Given the description of an element on the screen output the (x, y) to click on. 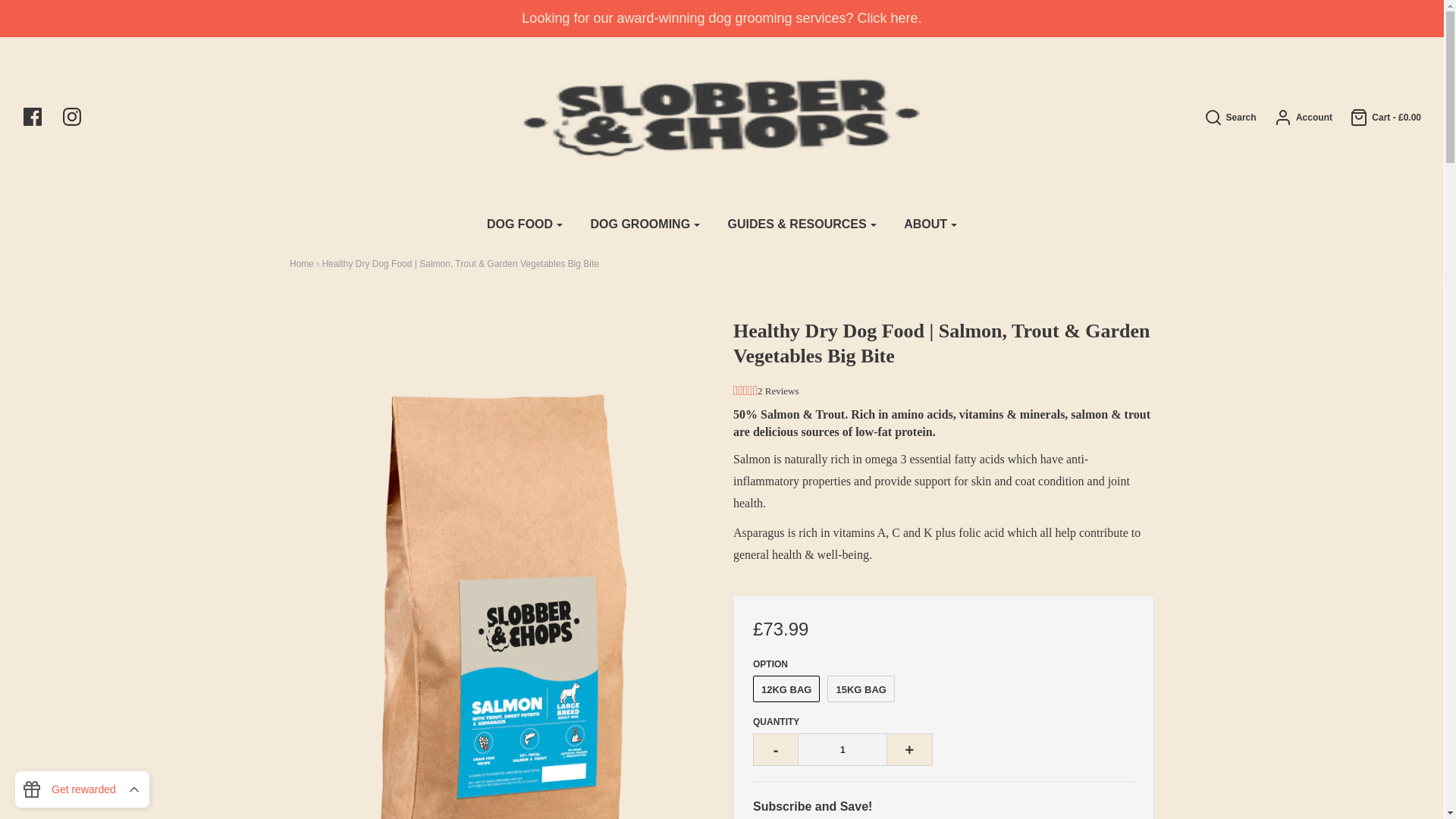
Instagram icon (71, 116)
Facebook icon (39, 117)
Back to the frontpage (301, 263)
Log in (1295, 117)
DOG FOOD (524, 224)
Account (1295, 117)
Search (1222, 117)
Cart (1378, 117)
Search (1101, 5)
Search (1222, 117)
DOG GROOMING (645, 224)
1 (841, 749)
Instagram icon (79, 117)
Facebook icon (32, 116)
